Given the description of an element on the screen output the (x, y) to click on. 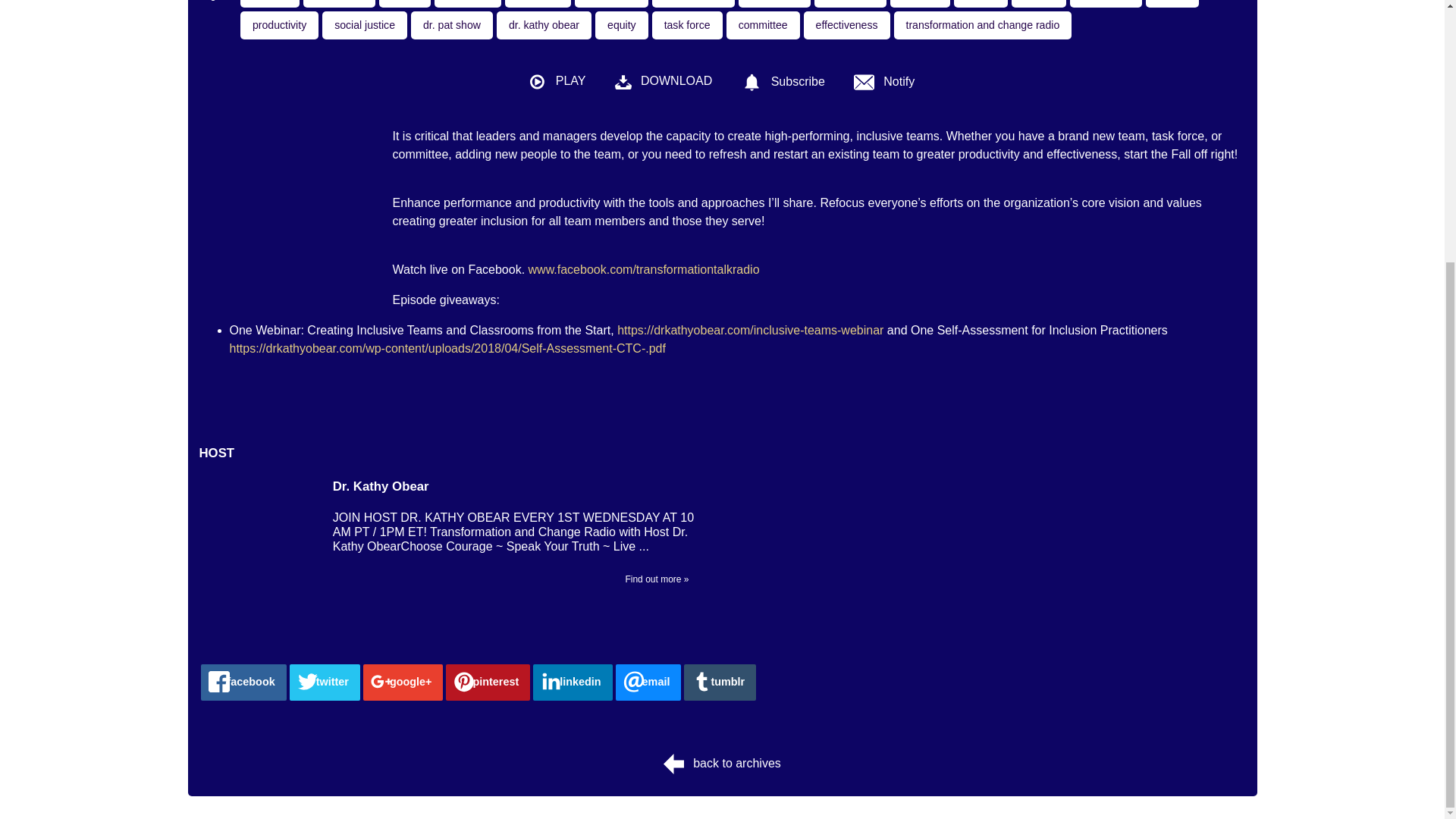
dr. pat (980, 3)
organization (693, 3)
leadership (611, 3)
dr. kathy obear (543, 25)
 Subscribe (783, 81)
 Notify (884, 81)
 DOWNLOAD (663, 87)
dr. pat show (451, 25)
transformation and change radio (982, 25)
back to archives (721, 763)
